Given the description of an element on the screen output the (x, y) to click on. 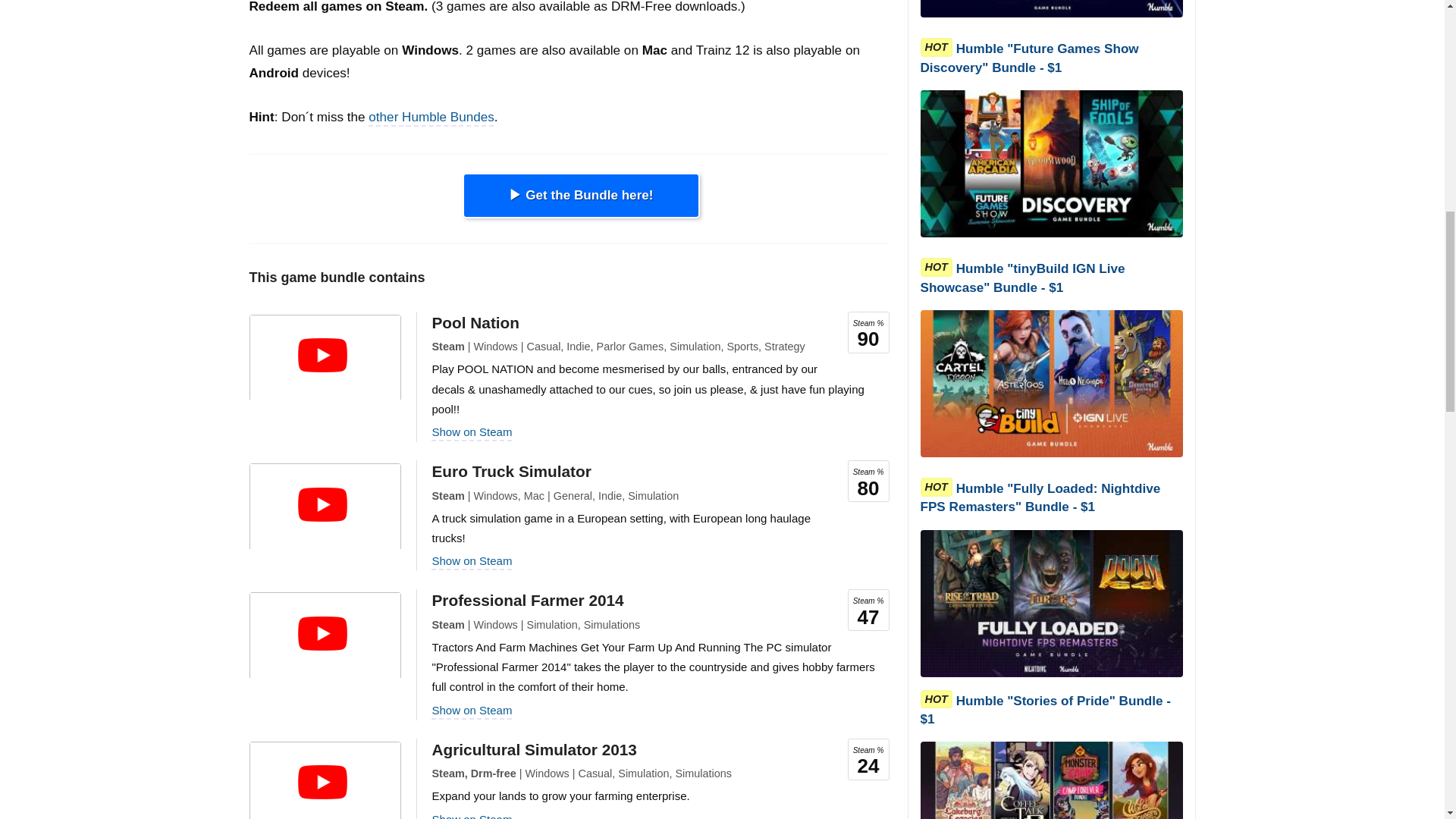
Show on Steam (472, 431)
other Humble Bundes (431, 116)
Show on Steam (472, 560)
Show on Steam (472, 816)
Show on Steam (472, 709)
Buy Weekly - Simulators Bundle from Humble Bundle here. (581, 195)
